Given the description of an element on the screen output the (x, y) to click on. 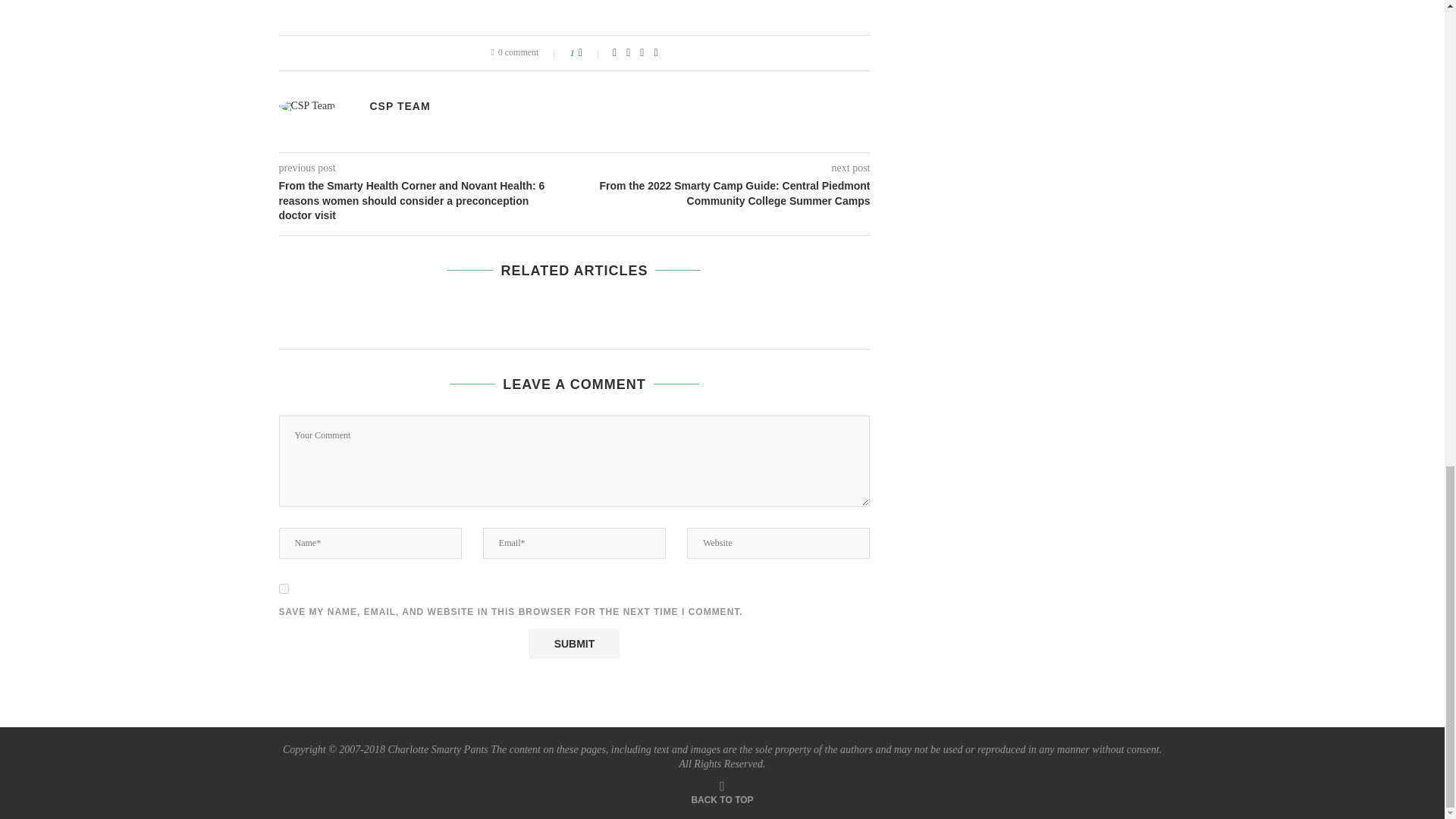
yes (283, 588)
Posts by CSP Team (399, 105)
Submit (574, 643)
Like (590, 52)
